Given the description of an element on the screen output the (x, y) to click on. 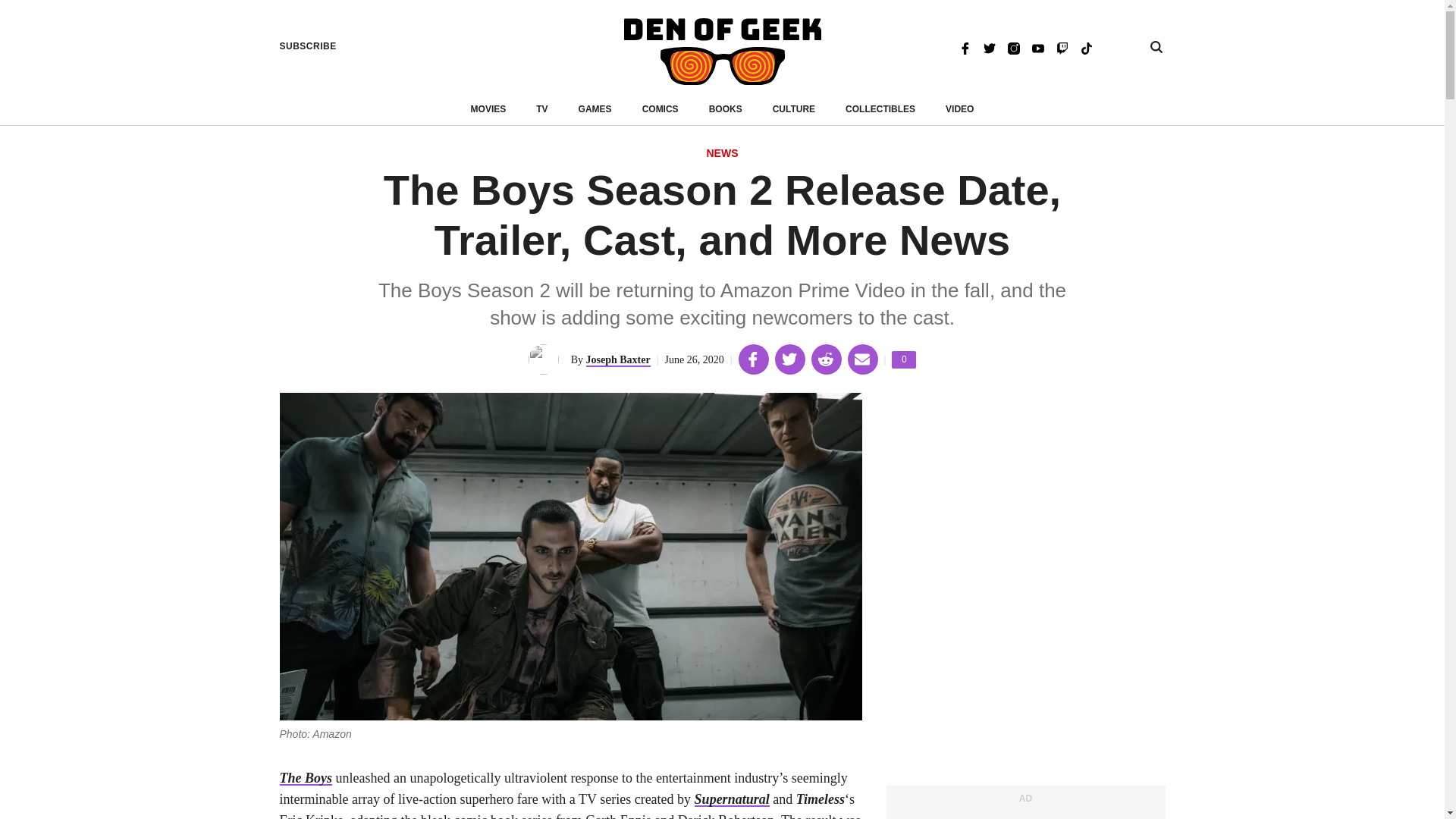
Instagram (1013, 46)
Joseph Baxter (618, 359)
CULTURE (794, 109)
Supernatural (732, 798)
BOOKS (725, 109)
COLLECTIBLES (880, 109)
VIDEO (959, 109)
TikTok (1085, 46)
SUBSCRIBE (307, 46)
MOVIES (488, 109)
The Boys (305, 777)
NEWS (903, 359)
COMICS (722, 153)
